Given the description of an element on the screen output the (x, y) to click on. 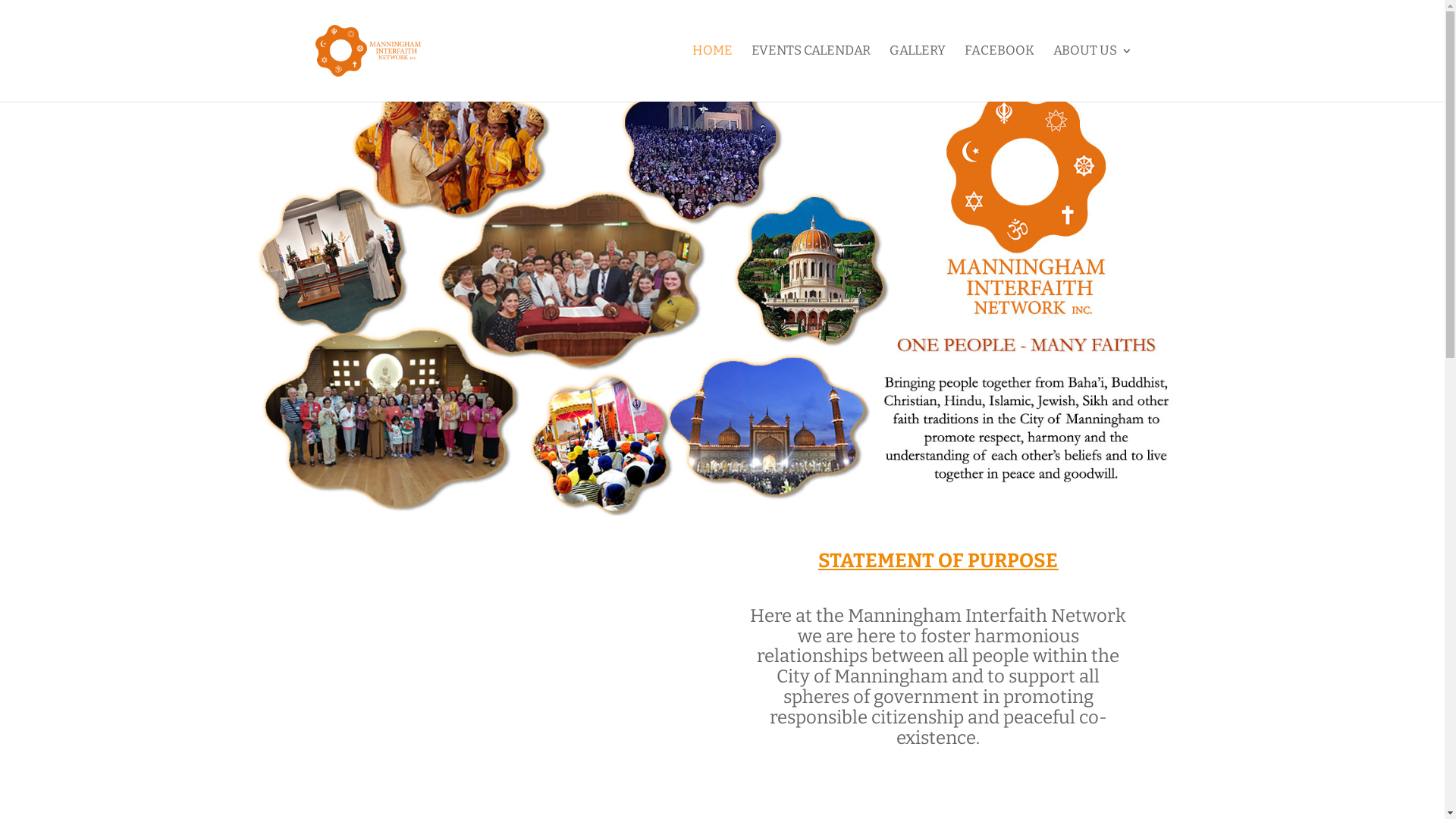
Manningham_Interfaith_Network_Wallpaper Element type: hover (721, 287)
ABOUT US Element type: text (1091, 73)
HOME Element type: text (711, 73)
EVENTS CALENDAR Element type: text (809, 73)
FACEBOOK Element type: text (999, 73)
GALLERY Element type: text (916, 73)
